Given the description of an element on the screen output the (x, y) to click on. 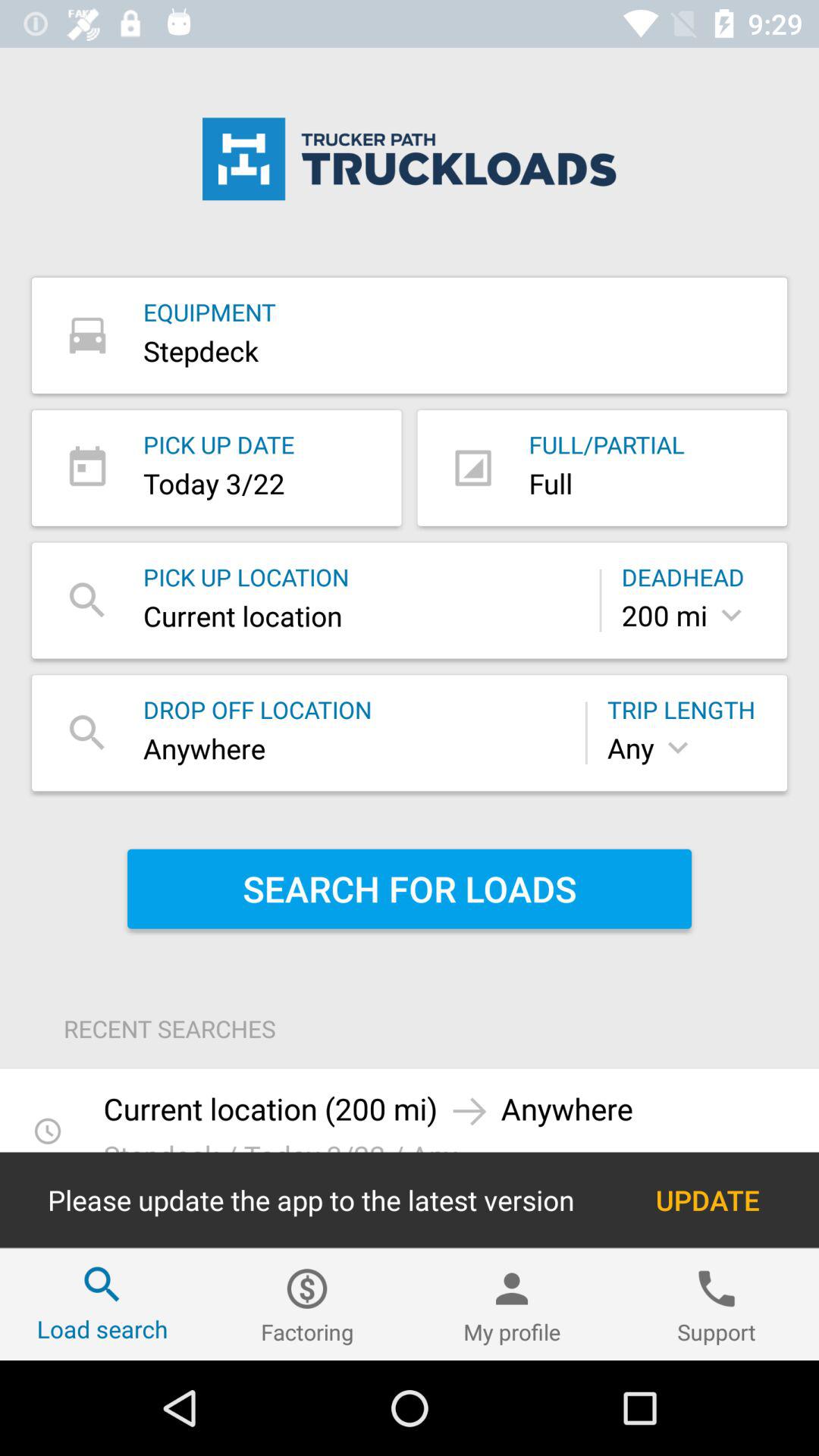
tap the icon above recent searches item (409, 888)
